Given the description of an element on the screen output the (x, y) to click on. 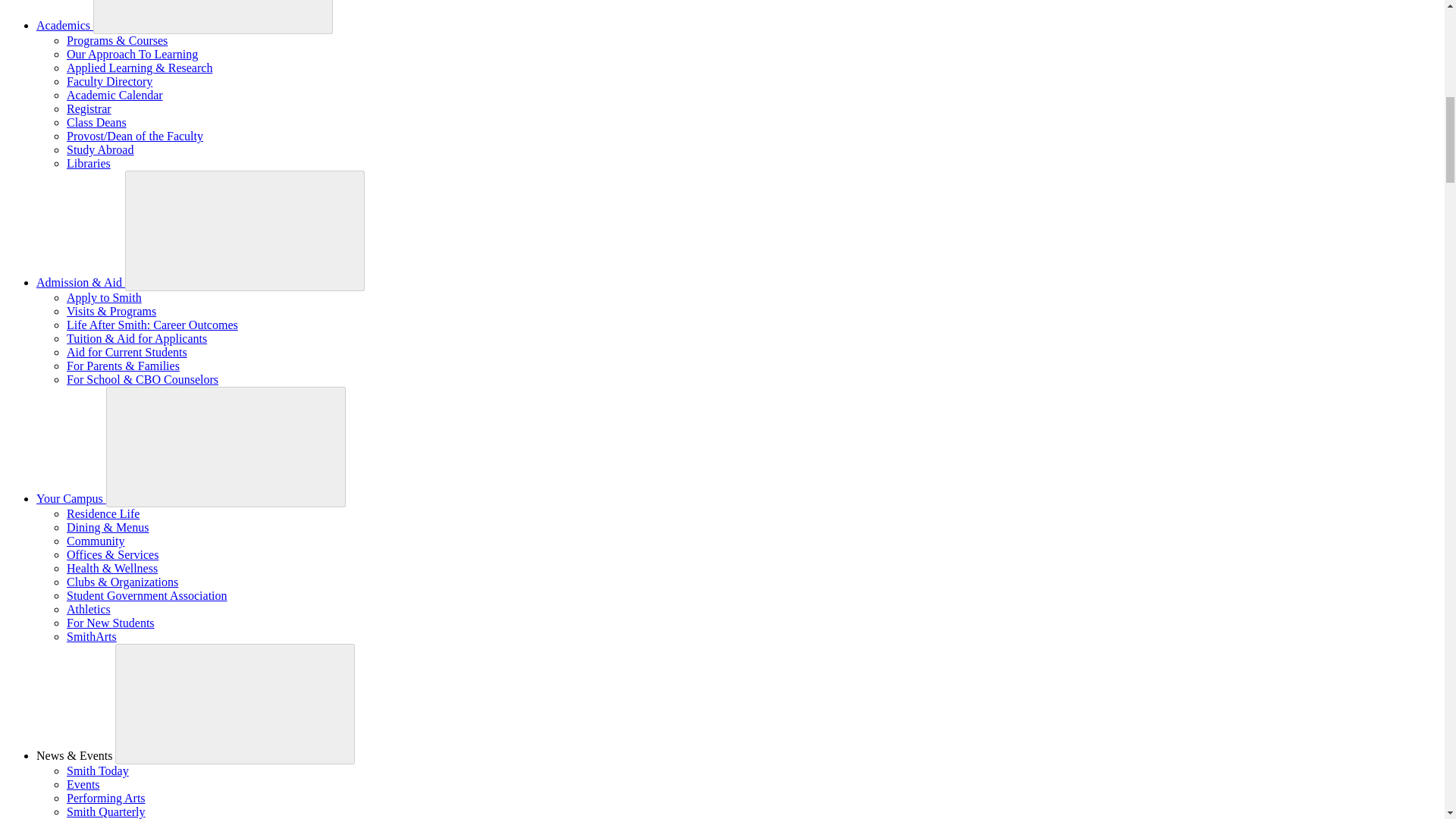
Study Abroad (99, 149)
Academic Calendar (114, 94)
Academics (64, 24)
Expand Academics Menu (213, 17)
Faculty Directory (109, 81)
Libraries (88, 163)
Registrar (89, 108)
Class Deans (96, 122)
Life After Smith: Career Outcomes (152, 324)
Aid for Current Students (126, 351)
